Given the description of an element on the screen output the (x, y) to click on. 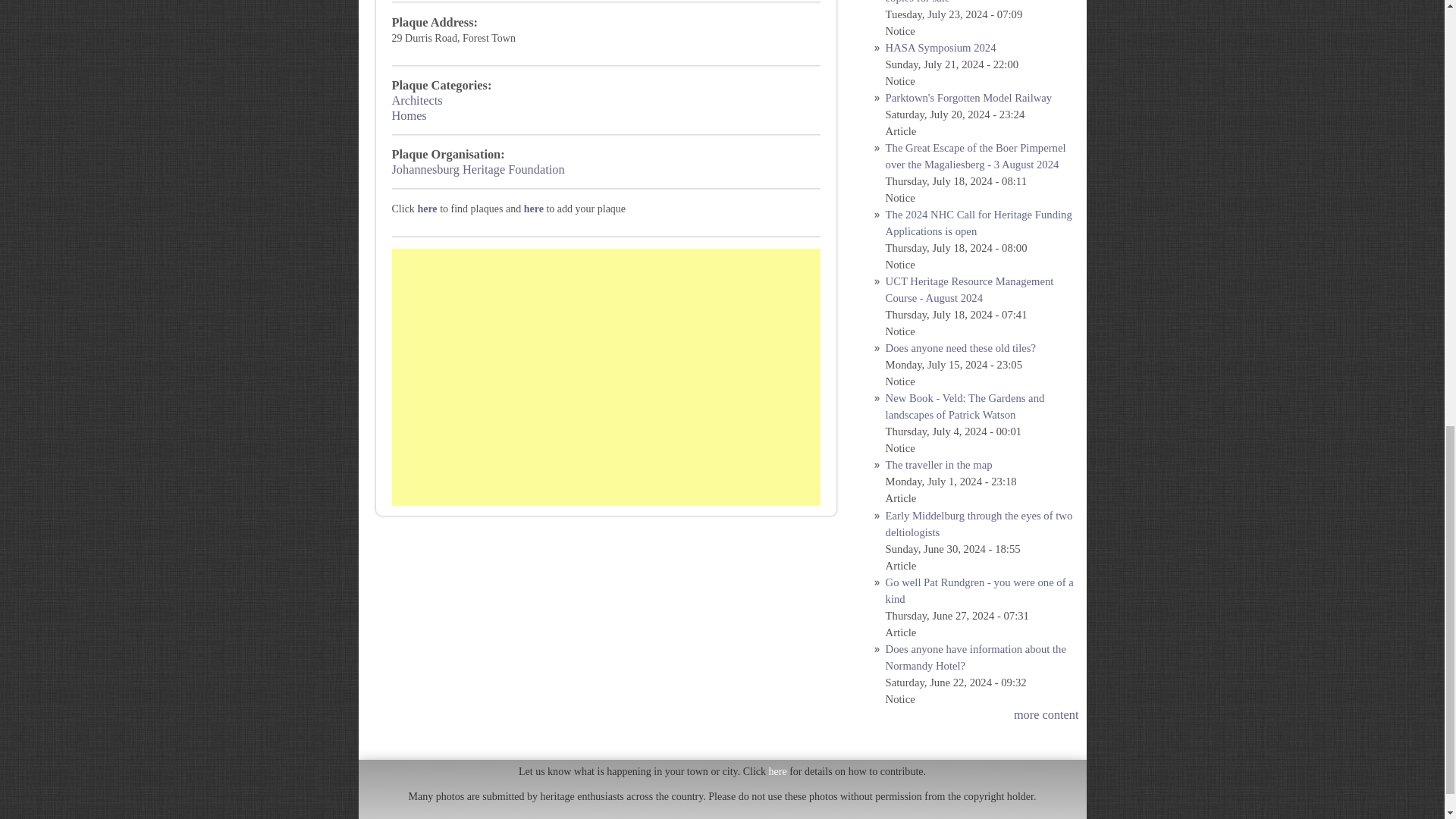
 here (426, 208)
here (533, 208)
Homes (408, 115)
Architects (416, 100)
Advertisement (606, 377)
Johannesburg Heritage Foundation (477, 169)
